Given the description of an element on the screen output the (x, y) to click on. 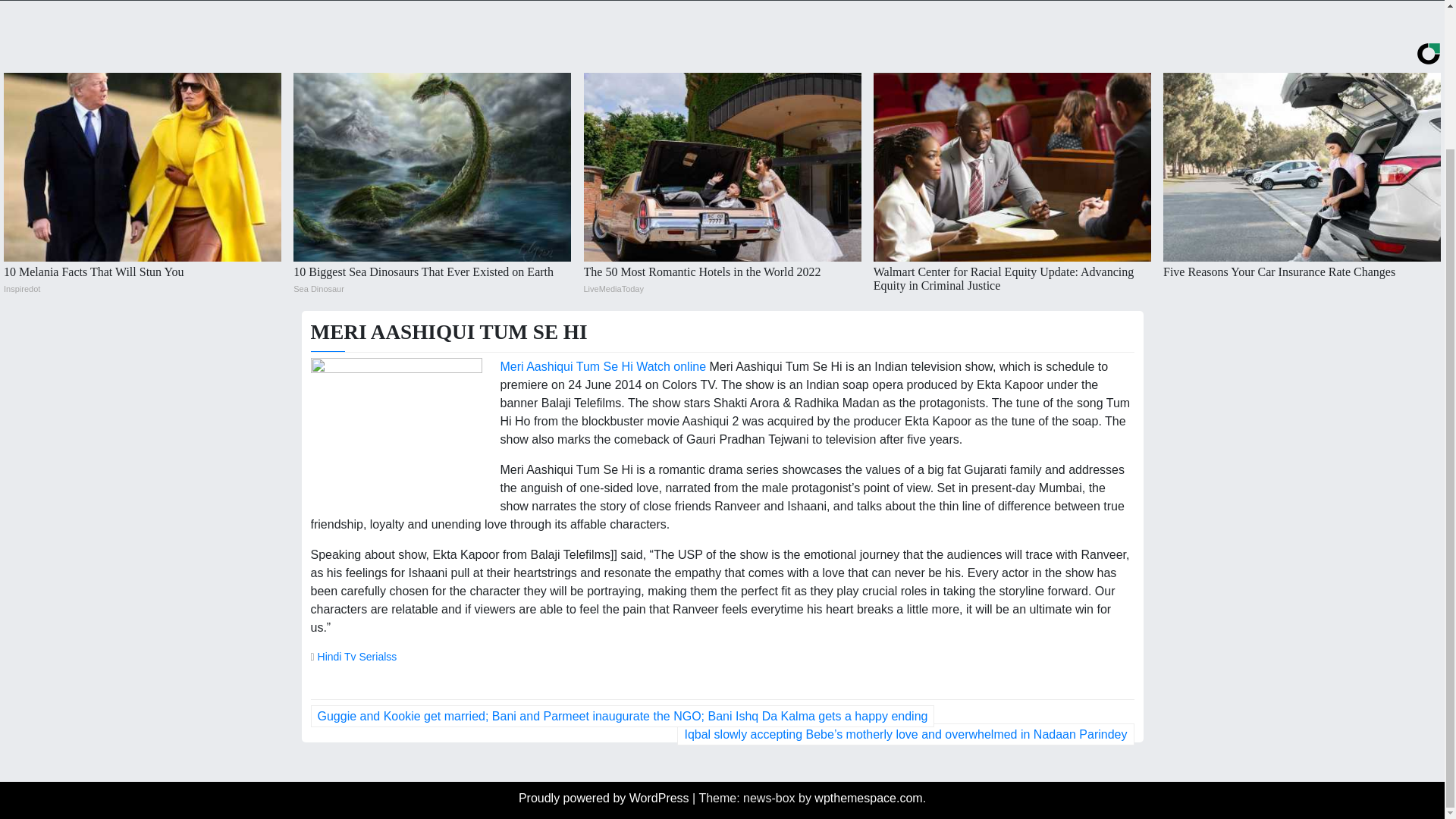
Proudly powered by WordPress (605, 797)
Meri Aashiqui Tum Se Hi Watch online (603, 366)
wpthemespace.com (867, 797)
Hindi Tv Serialss (357, 656)
